Given the description of an element on the screen output the (x, y) to click on. 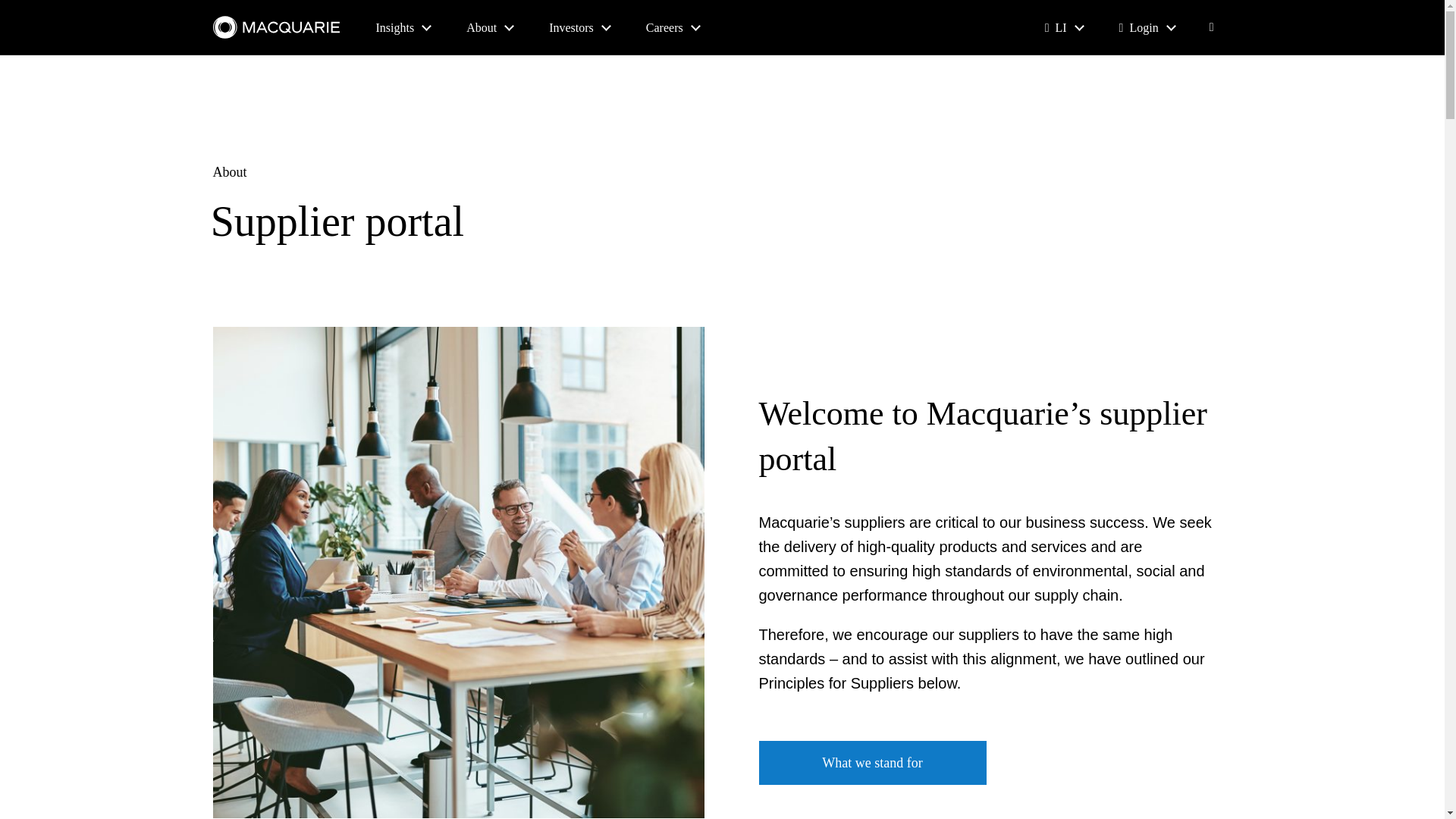
What we stand for (871, 762)
